Given the description of an element on the screen output the (x, y) to click on. 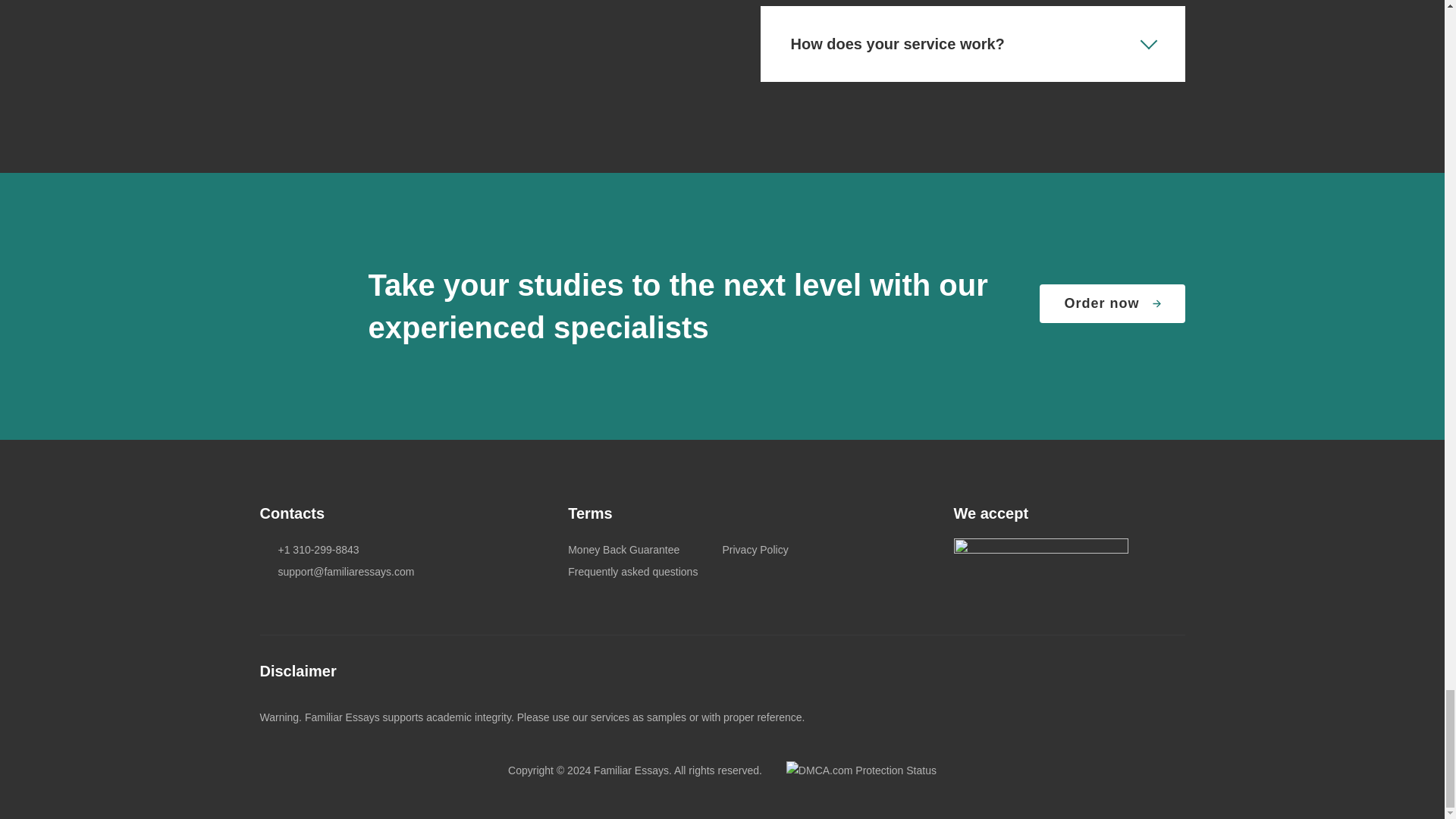
Privacy Policy (754, 549)
Frequently asked questions (632, 571)
Order now (1112, 303)
Money Back Guarantee (623, 549)
